Given the description of an element on the screen output the (x, y) to click on. 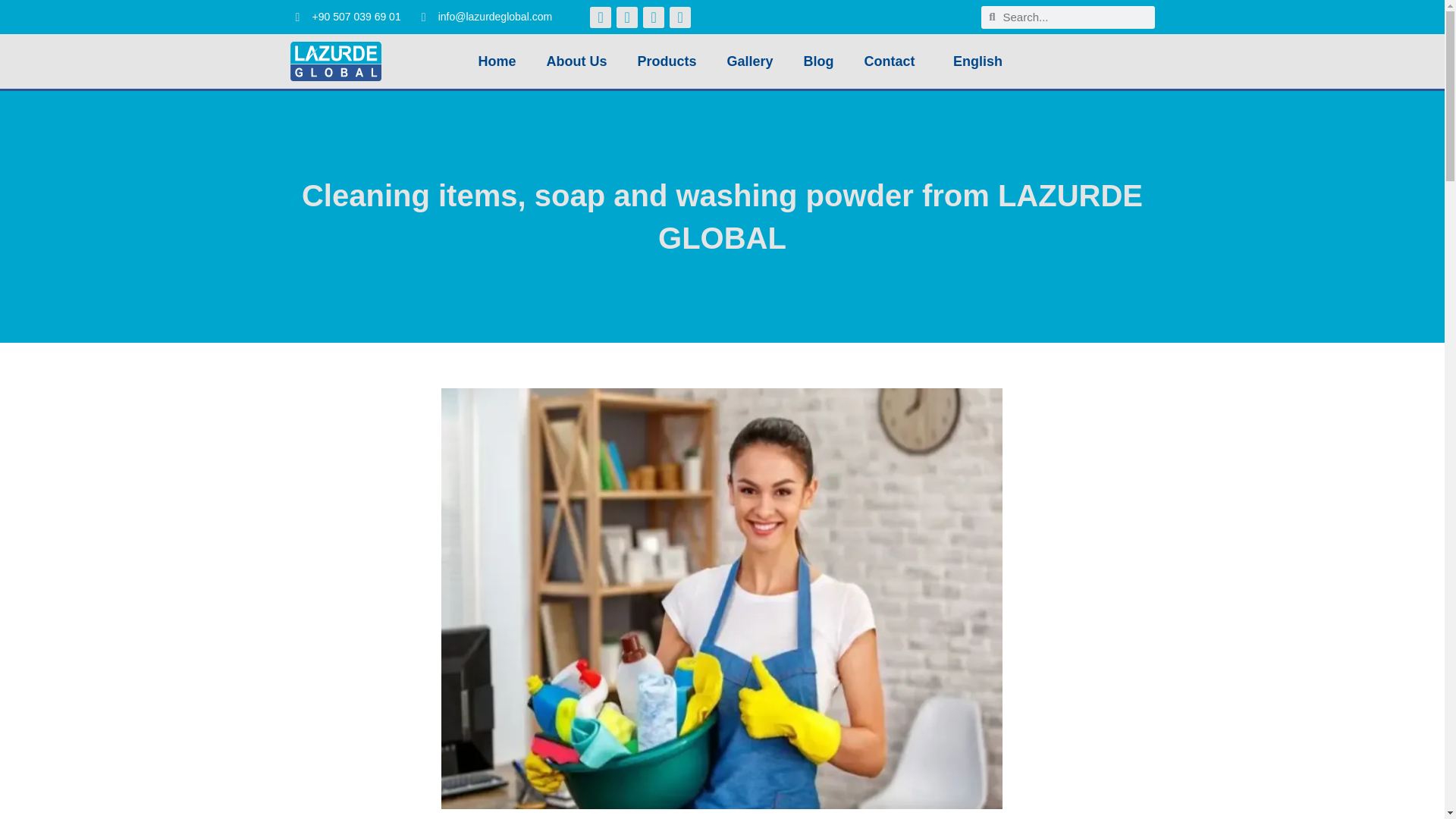
English (973, 61)
Products (667, 61)
Home (497, 61)
Gallery (750, 61)
Contact (889, 61)
Blog (818, 61)
About Us (577, 61)
English (973, 61)
